Given the description of an element on the screen output the (x, y) to click on. 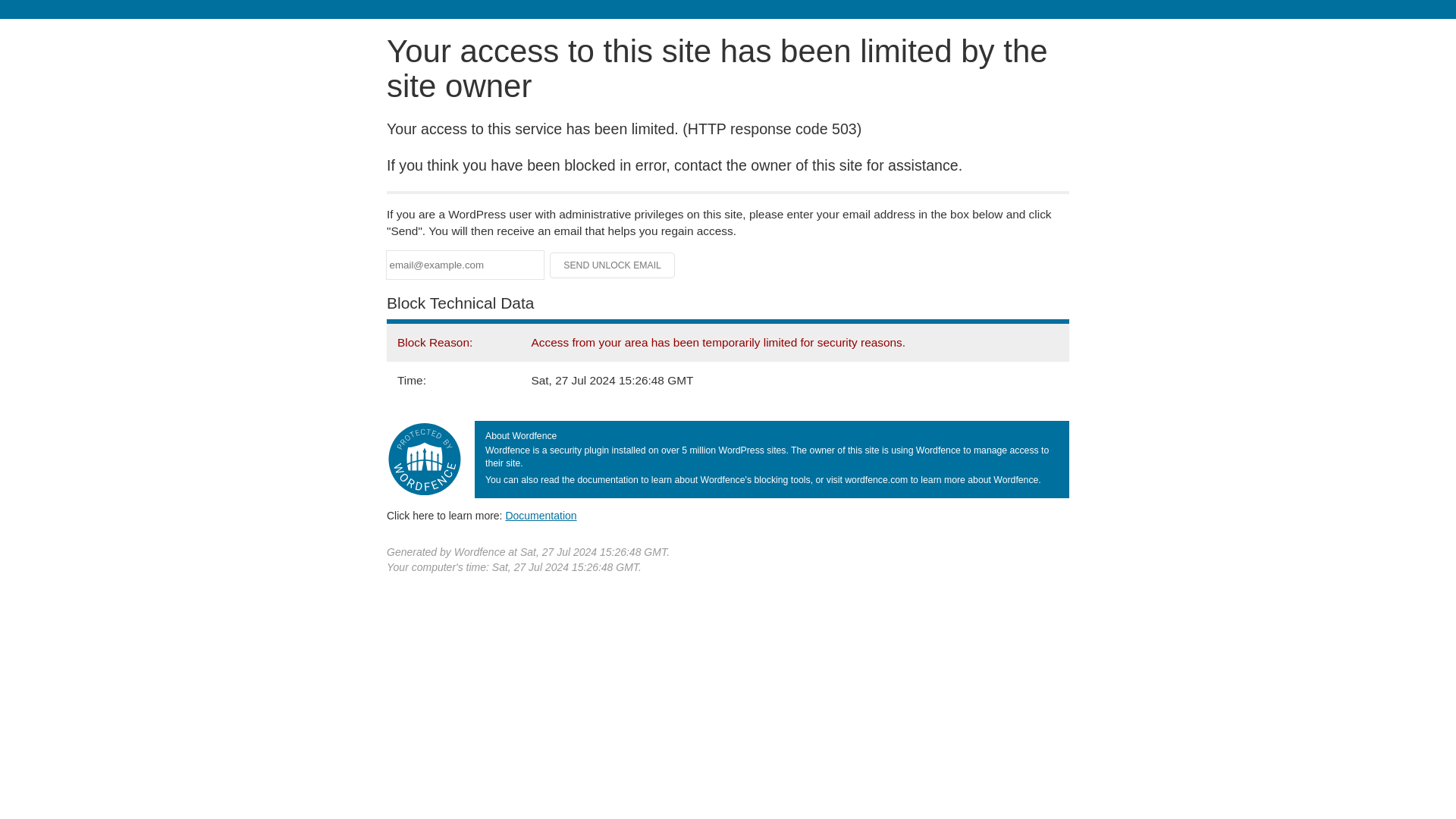
Send Unlock Email (612, 265)
Send Unlock Email (612, 265)
Documentation (540, 515)
